Given the description of an element on the screen output the (x, y) to click on. 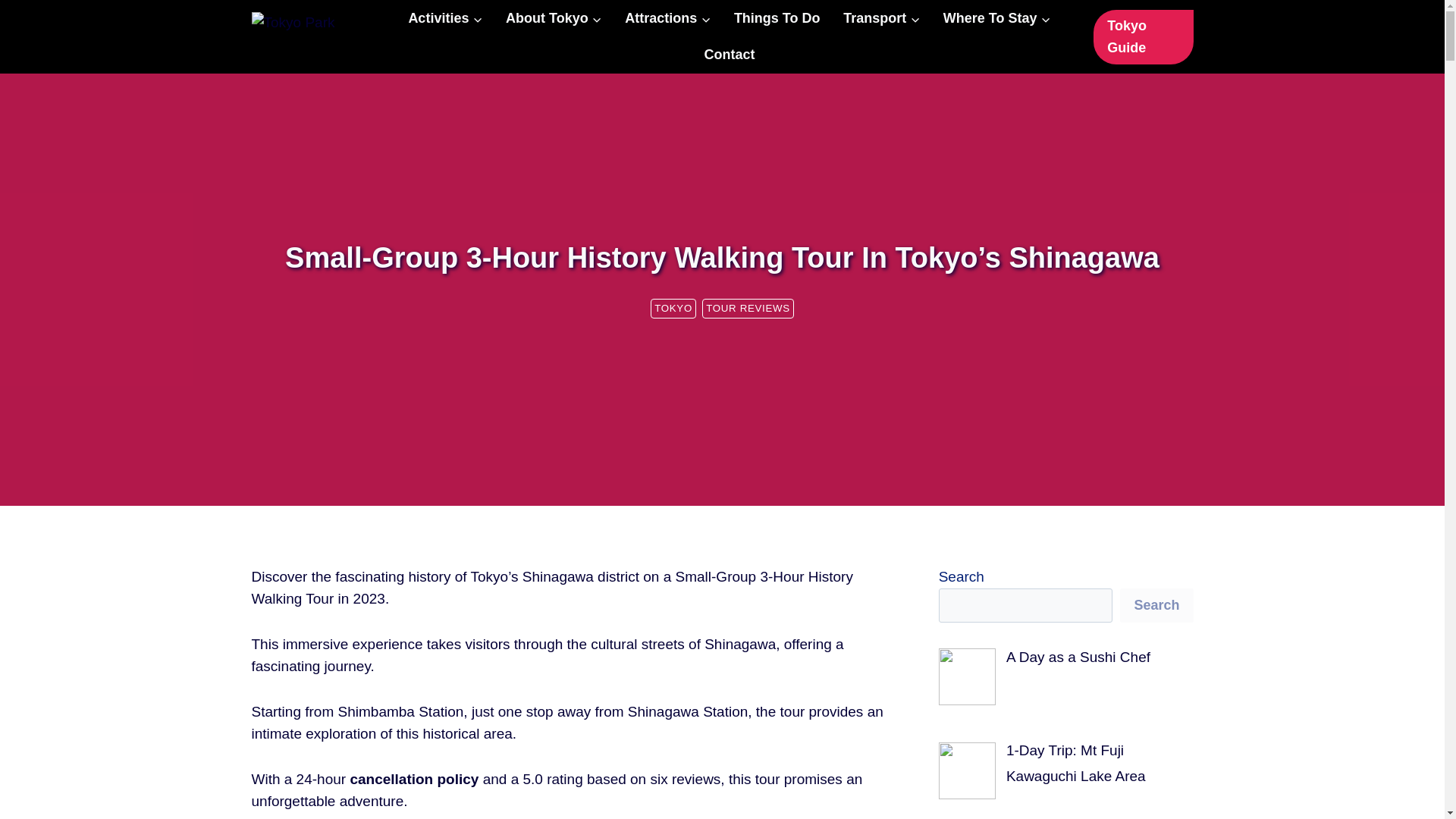
Where To Stay (996, 18)
About Tokyo (553, 18)
Activities (445, 18)
Things To Do (776, 18)
Transport (881, 18)
Attractions (667, 18)
